Given the description of an element on the screen output the (x, y) to click on. 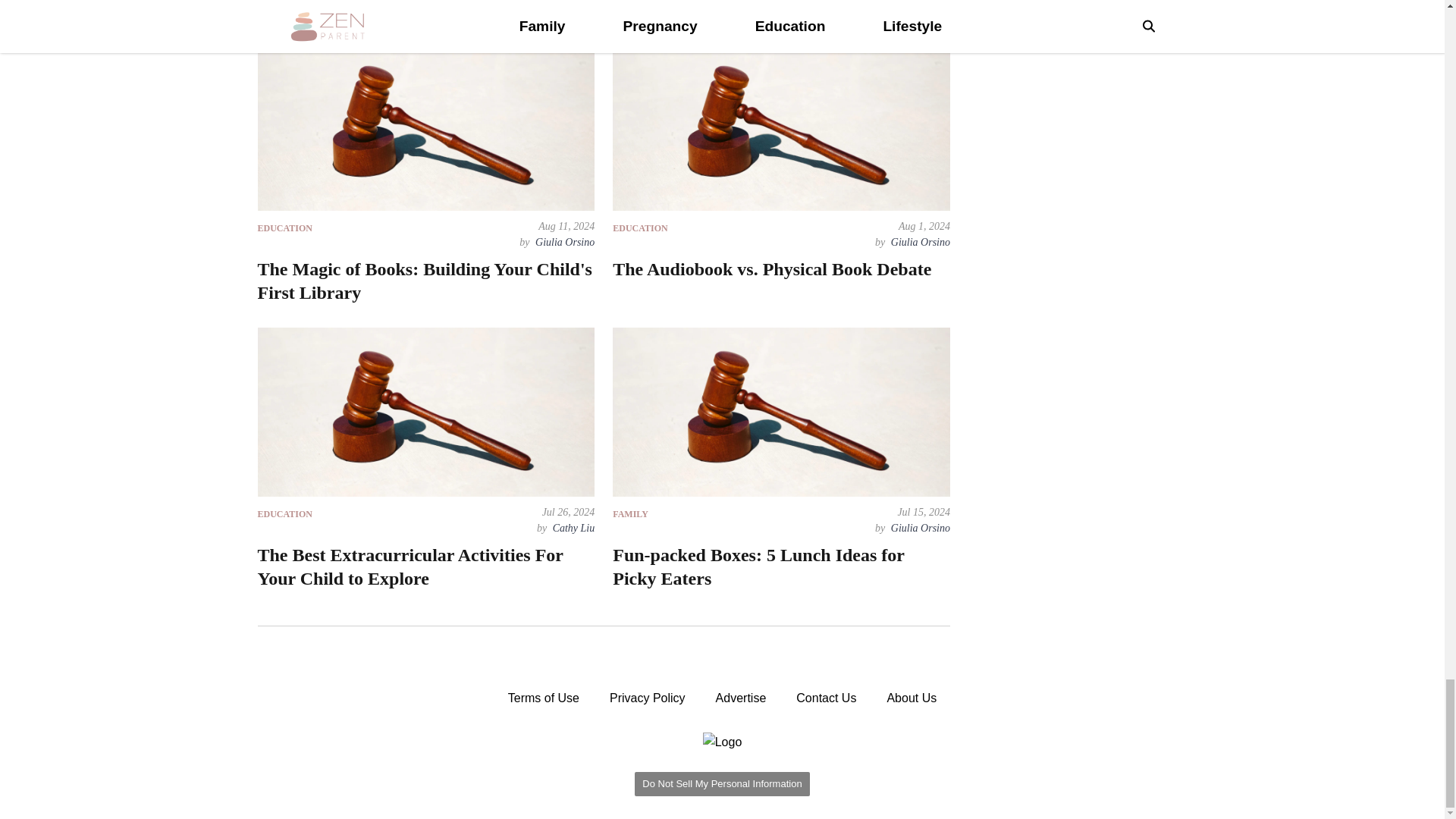
EDUCATION (639, 228)
Giulia Orsino (563, 242)
EDUCATION (285, 228)
The Magic of Books: Building Your Child's First Library (424, 280)
Giulia Orsino (919, 242)
